Given the description of an element on the screen output the (x, y) to click on. 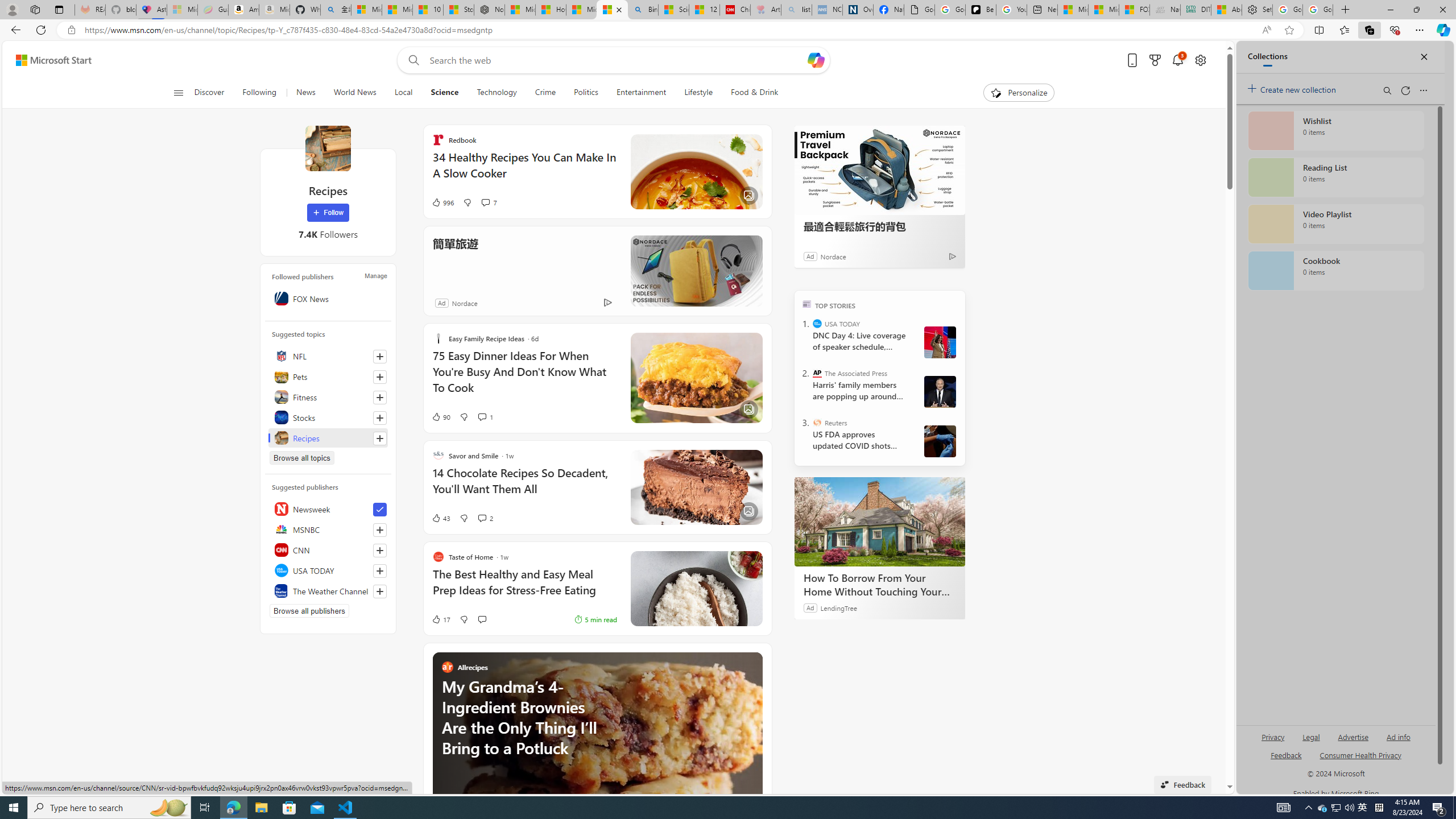
Google Analytics Opt-out Browser Add-on Download Page (919, 9)
The Weather Channel (327, 590)
AutomationID: sb_feedback (1286, 754)
Newsweek (327, 508)
17 Like (440, 619)
